Given the description of an element on the screen output the (x, y) to click on. 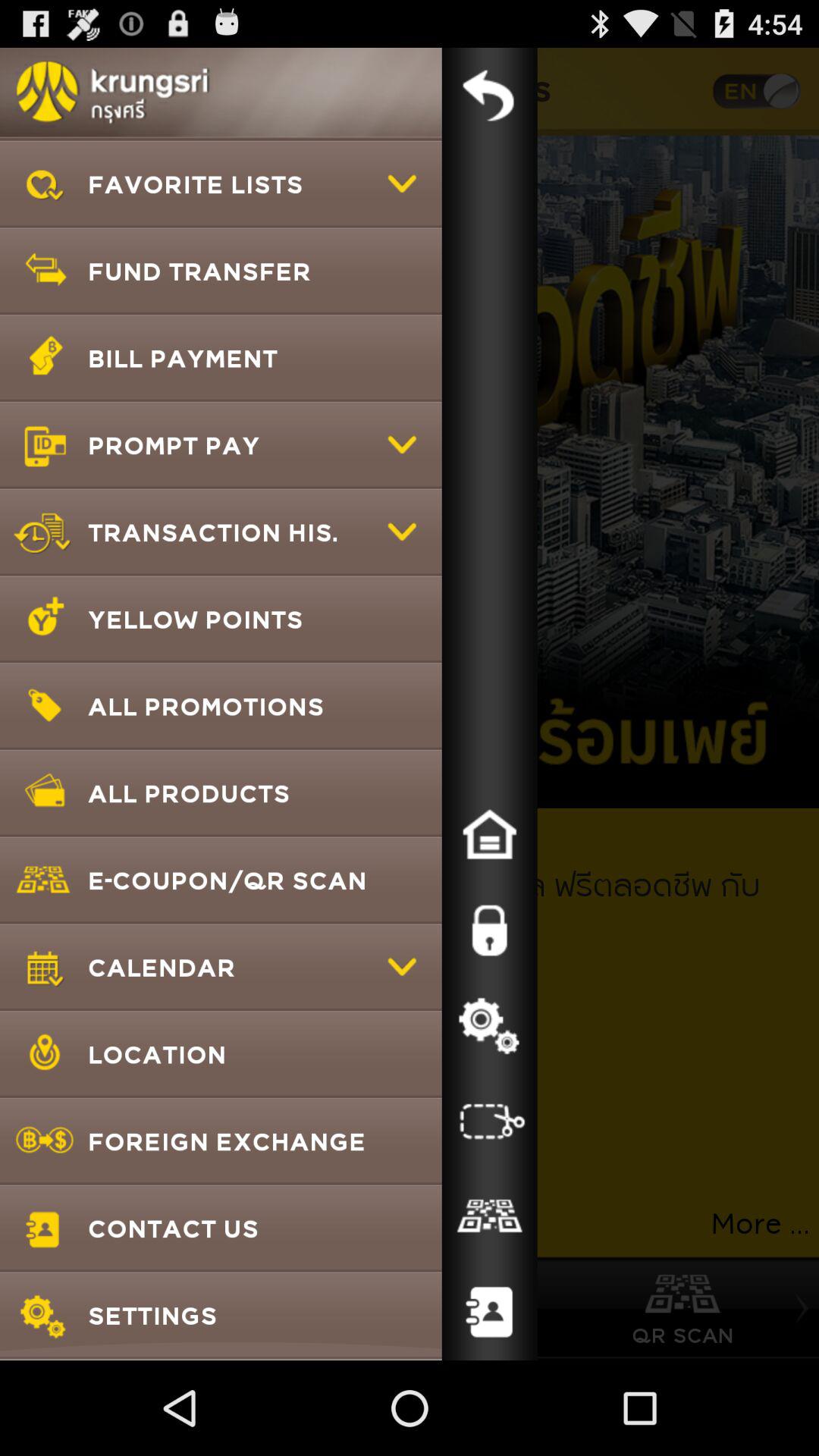
discount (489, 1216)
